Given the description of an element on the screen output the (x, y) to click on. 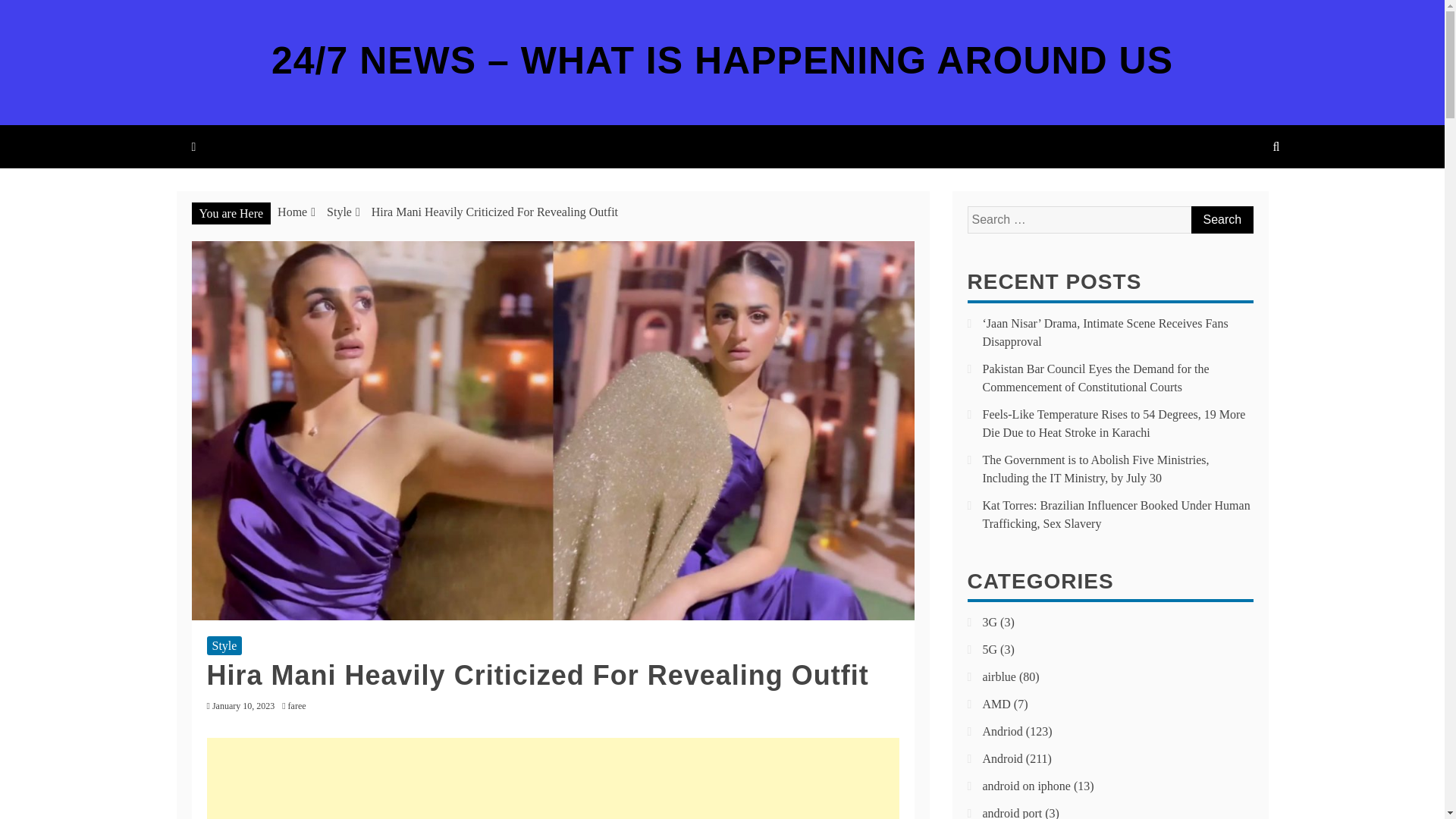
faree (301, 706)
Search (1221, 219)
Style (339, 211)
Home (292, 211)
Search (1221, 219)
Style (223, 645)
3G (989, 621)
Search (1221, 219)
airblue (999, 676)
January 10, 2023 (243, 706)
Advertisement (552, 778)
